Given the description of an element on the screen output the (x, y) to click on. 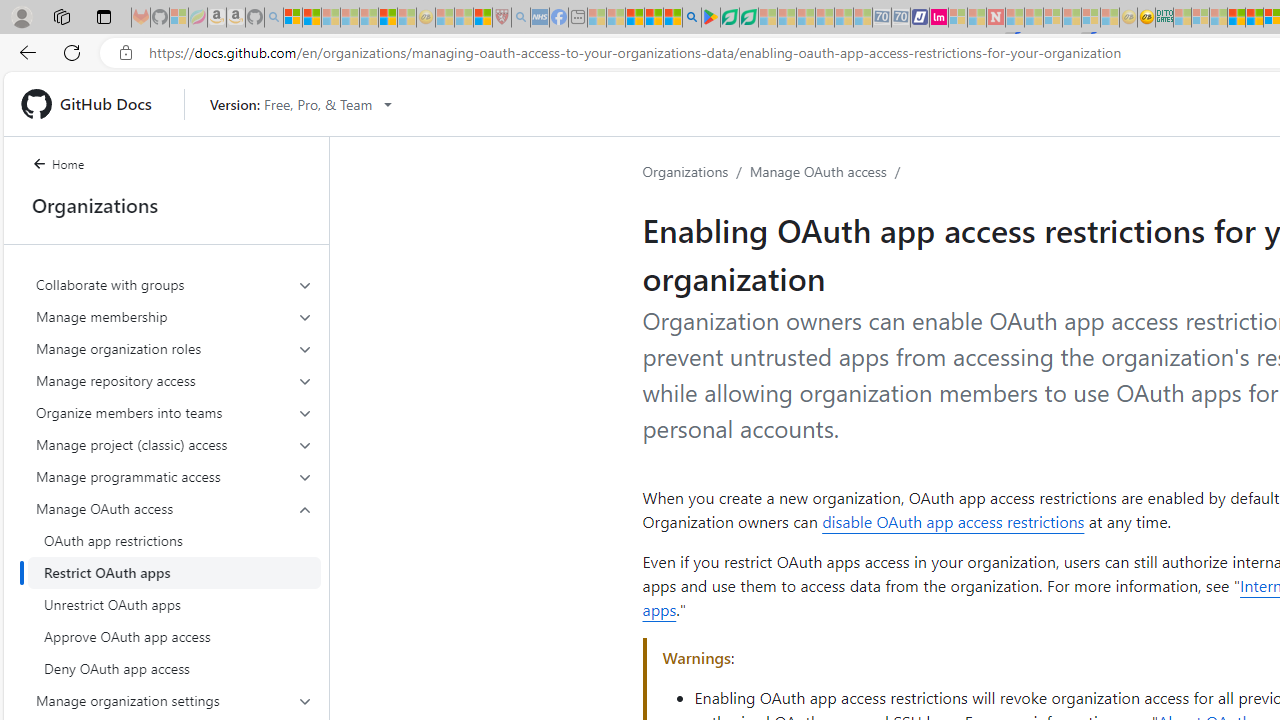
Manage OAuth access/ (828, 171)
Bluey: Let's Play! - Apps on Google Play (710, 17)
Cheap Hotels - Save70.com - Sleeping (901, 17)
Terms of Use Agreement (729, 17)
Organize members into teams (174, 412)
